Given the description of an element on the screen output the (x, y) to click on. 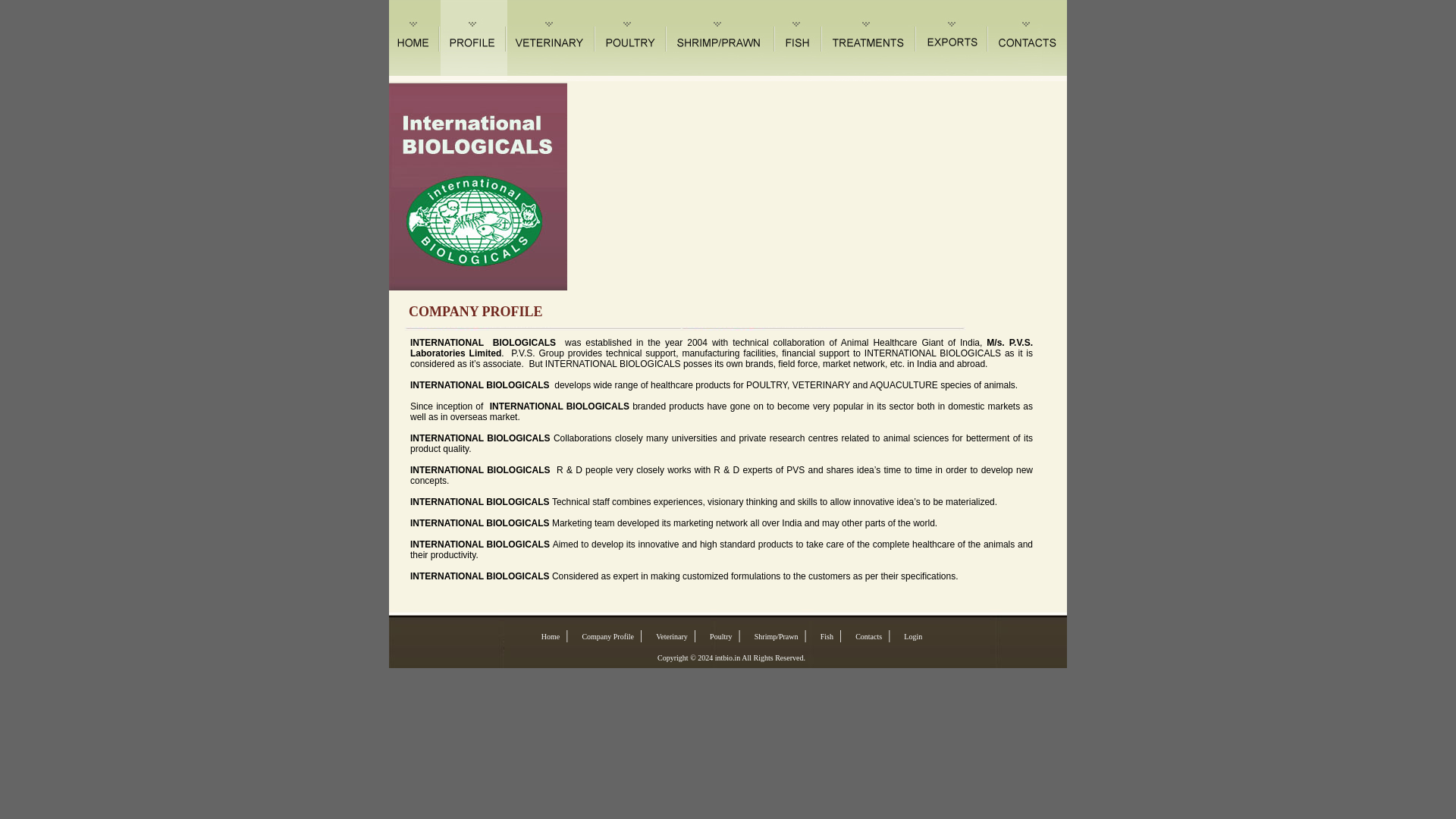
Veterinary (667, 636)
Login (908, 636)
Contacts (864, 636)
Company Profile (603, 636)
Fish (822, 636)
Home (546, 636)
Poultry (716, 636)
